Given the description of an element on the screen output the (x, y) to click on. 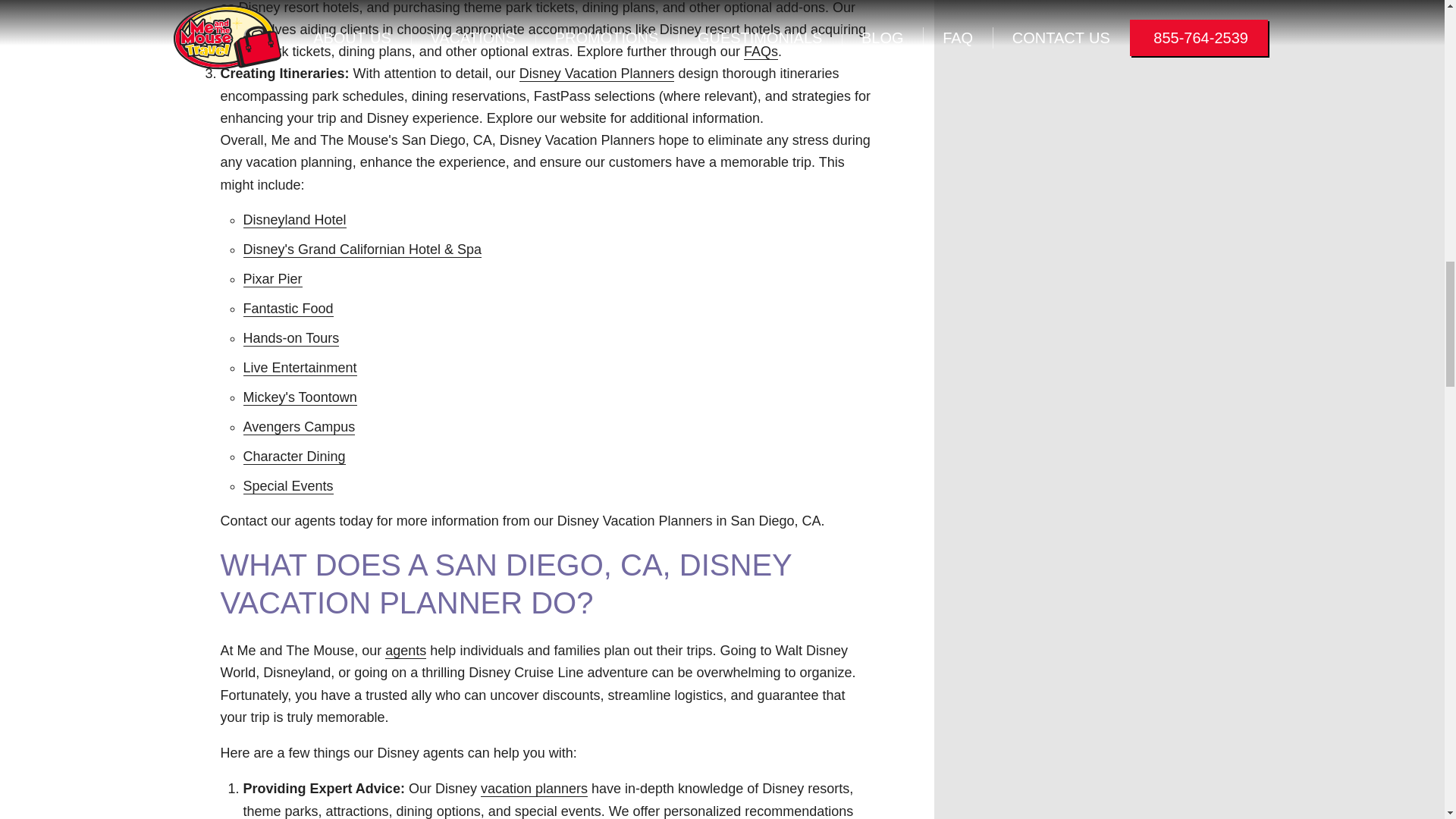
Hands-on Tours (291, 338)
Disneyland Hotel (294, 220)
Pixar Pier (272, 279)
Disney Vacation Planners (597, 73)
FAQs (760, 51)
Fantastic Food (288, 308)
Live Entertainment (299, 367)
